Given the description of an element on the screen output the (x, y) to click on. 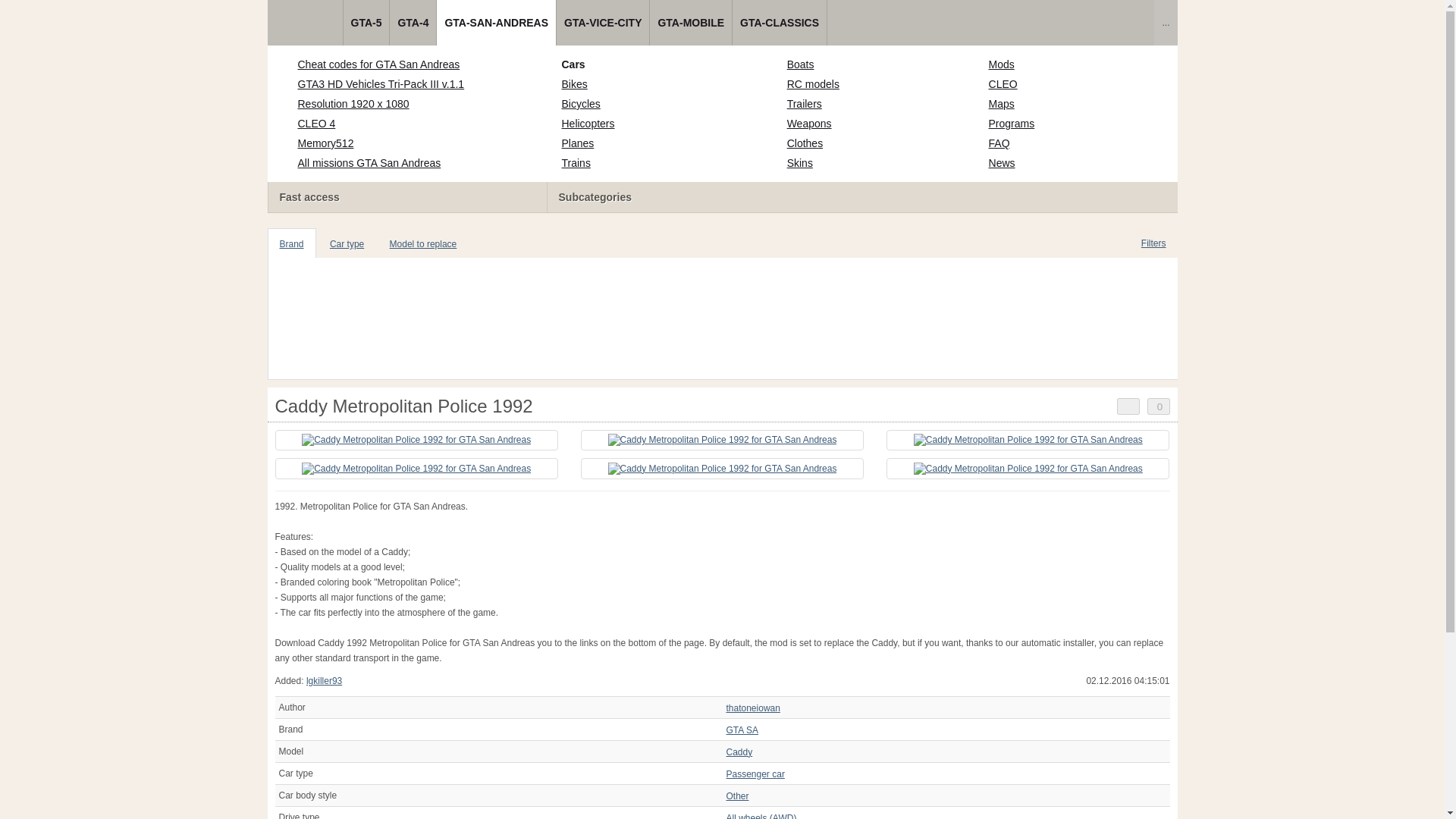
GTA-4 (412, 22)
GTA-5 (365, 22)
